Given the description of an element on the screen output the (x, y) to click on. 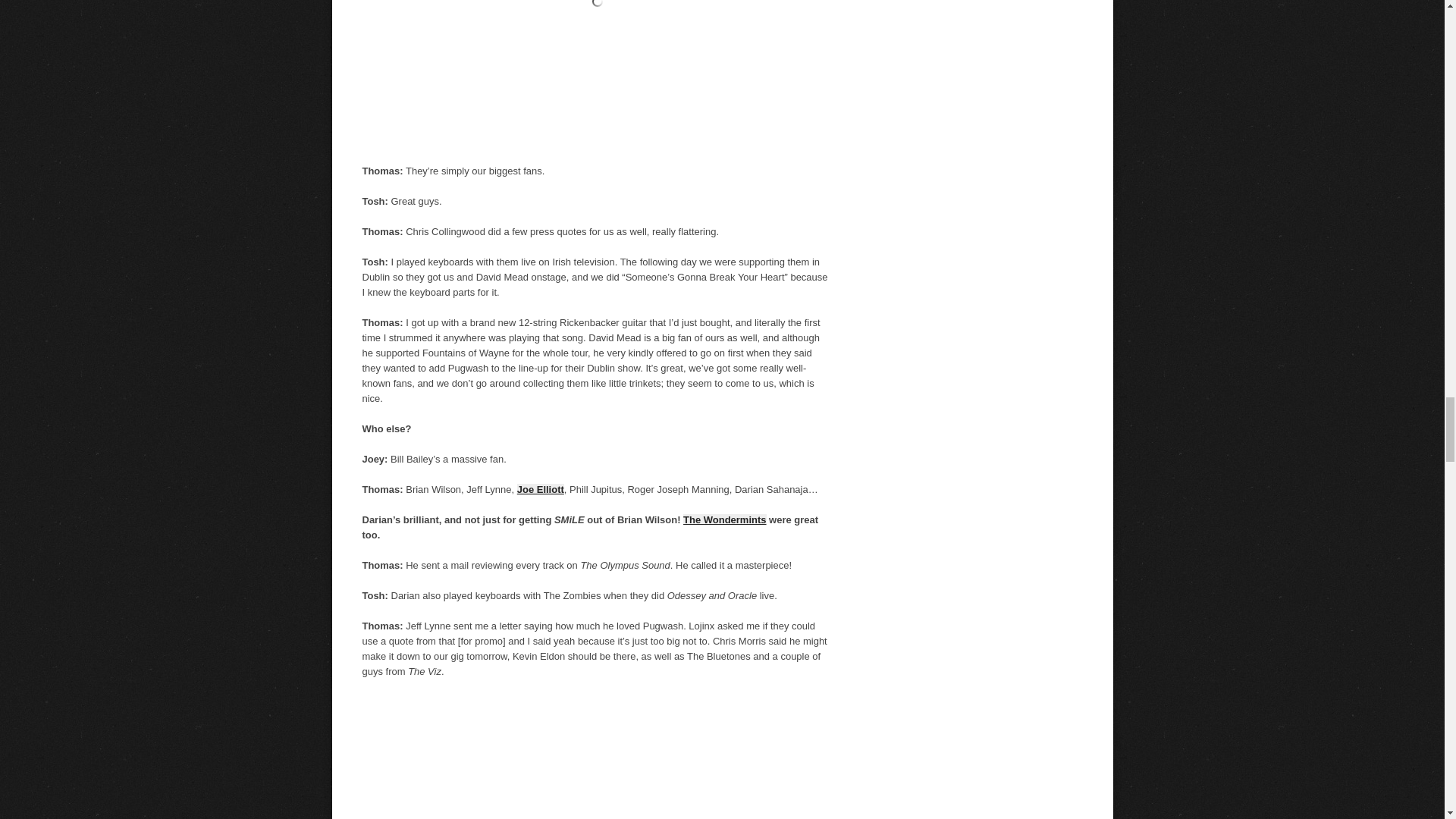
The Wondermints (723, 519)
Joe Elliott (540, 489)
